Given the description of an element on the screen output the (x, y) to click on. 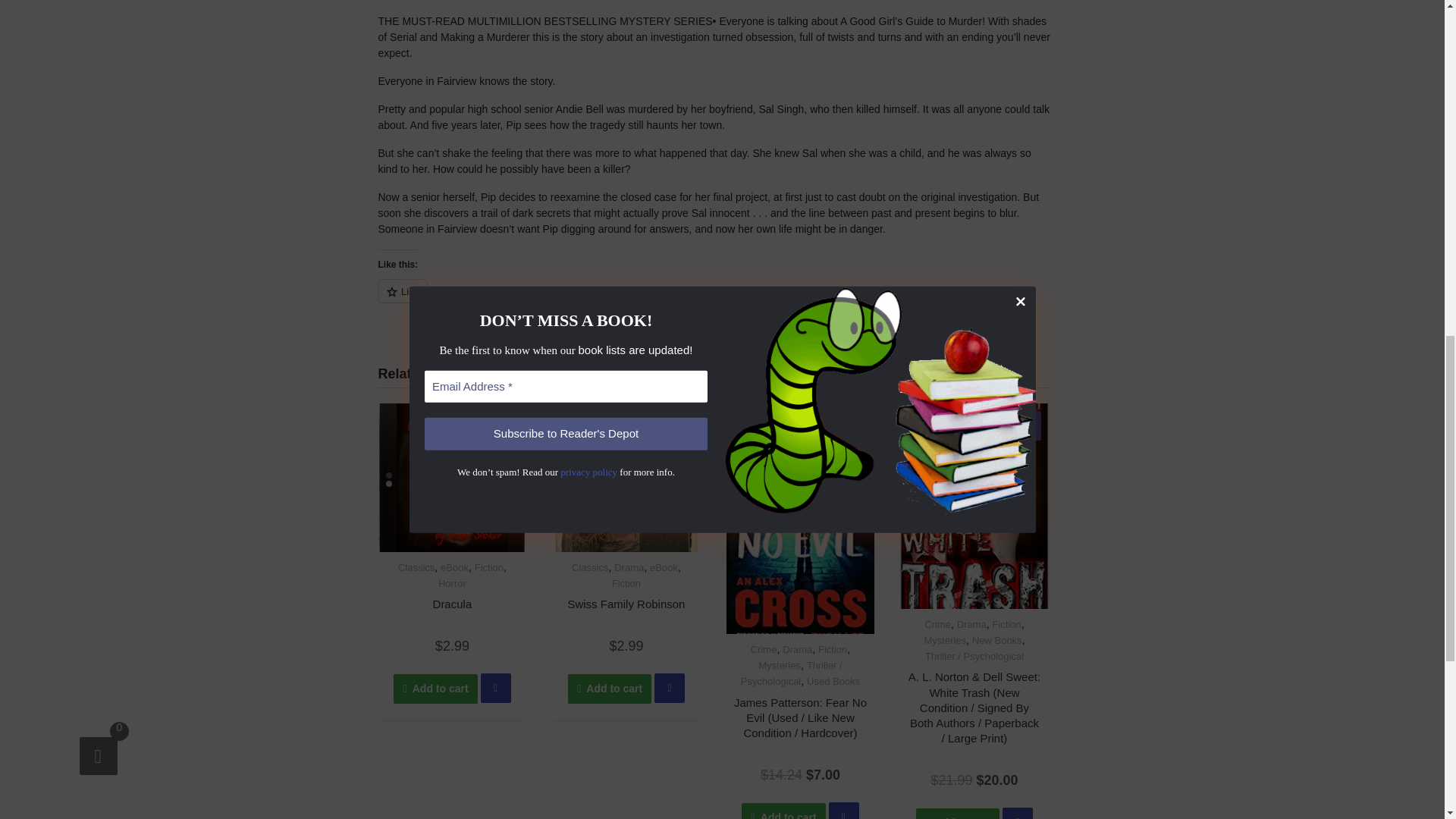
Like or Reblog (714, 300)
